Given the description of an element on the screen output the (x, y) to click on. 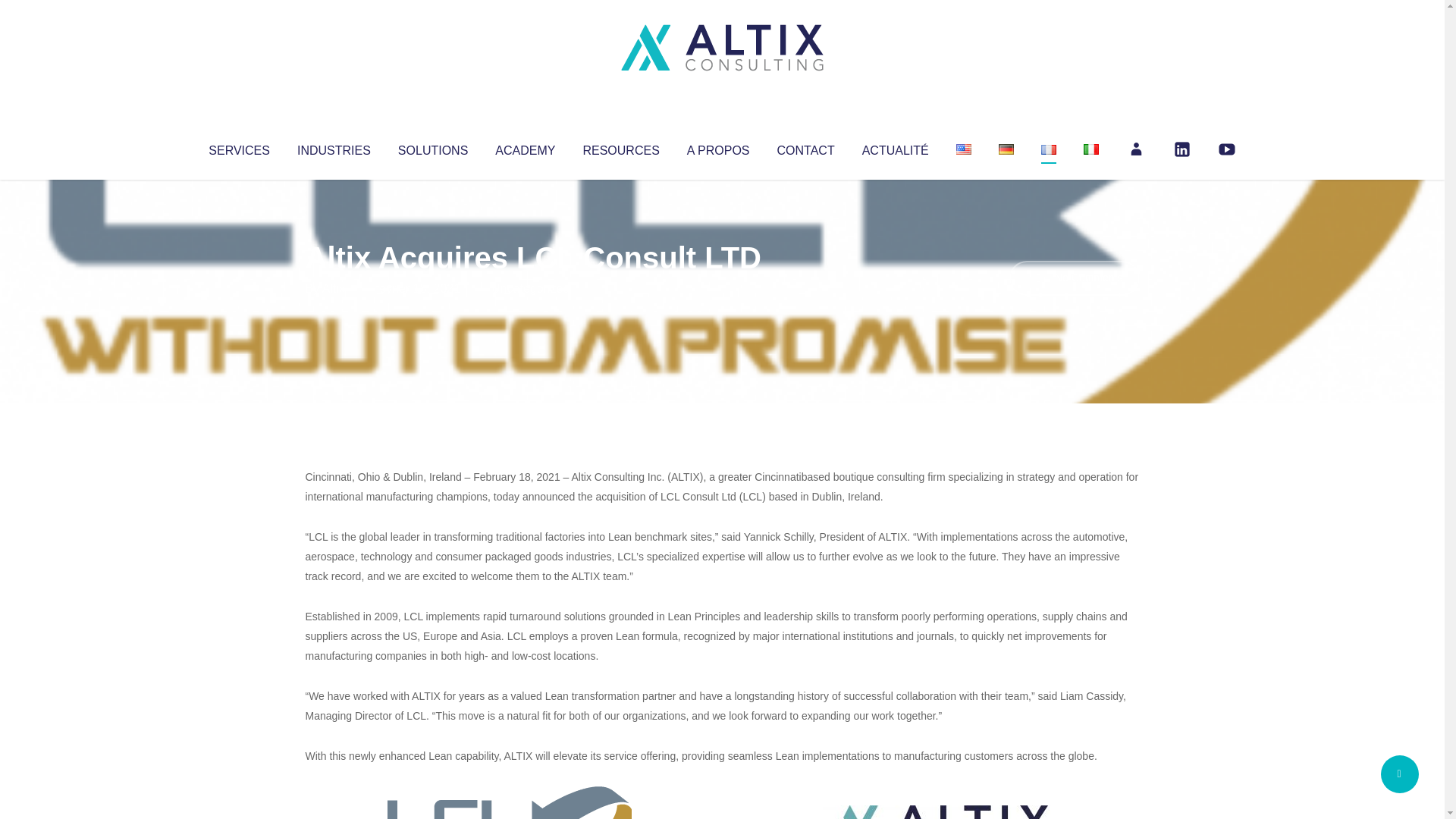
SERVICES (238, 146)
ACADEMY (524, 146)
RESOURCES (620, 146)
Altix (333, 287)
INDUSTRIES (334, 146)
No Comments (1073, 278)
Articles par Altix (333, 287)
A PROPOS (718, 146)
SOLUTIONS (432, 146)
Uncategorized (530, 287)
